Given the description of an element on the screen output the (x, y) to click on. 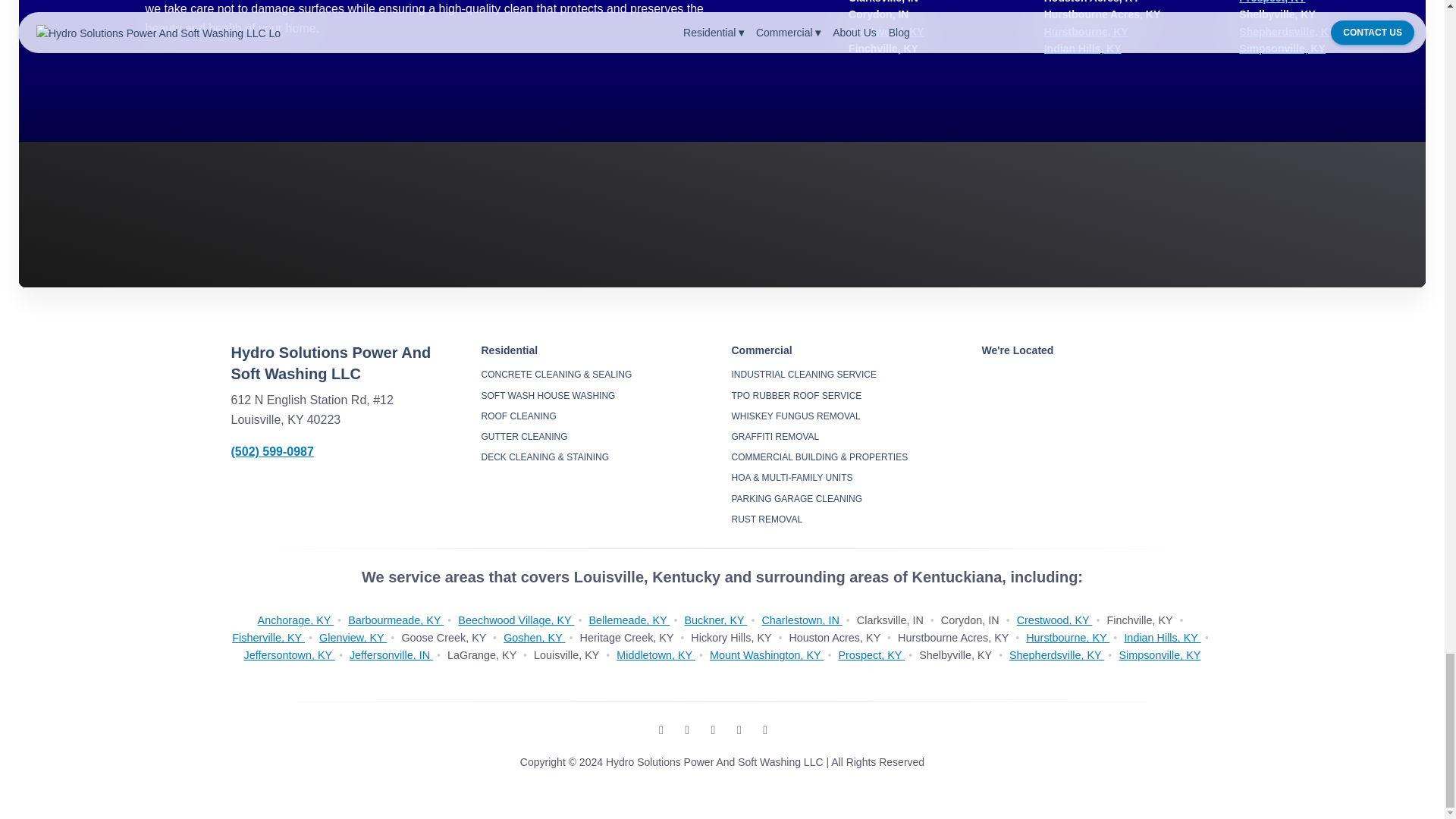
Indian Hills, KY (1082, 48)
Hurstbourne, KY (1085, 31)
Hydro Solutions Power And Soft Washing LLC Location (1096, 440)
Crestwood, KY (886, 31)
